Given the description of an element on the screen output the (x, y) to click on. 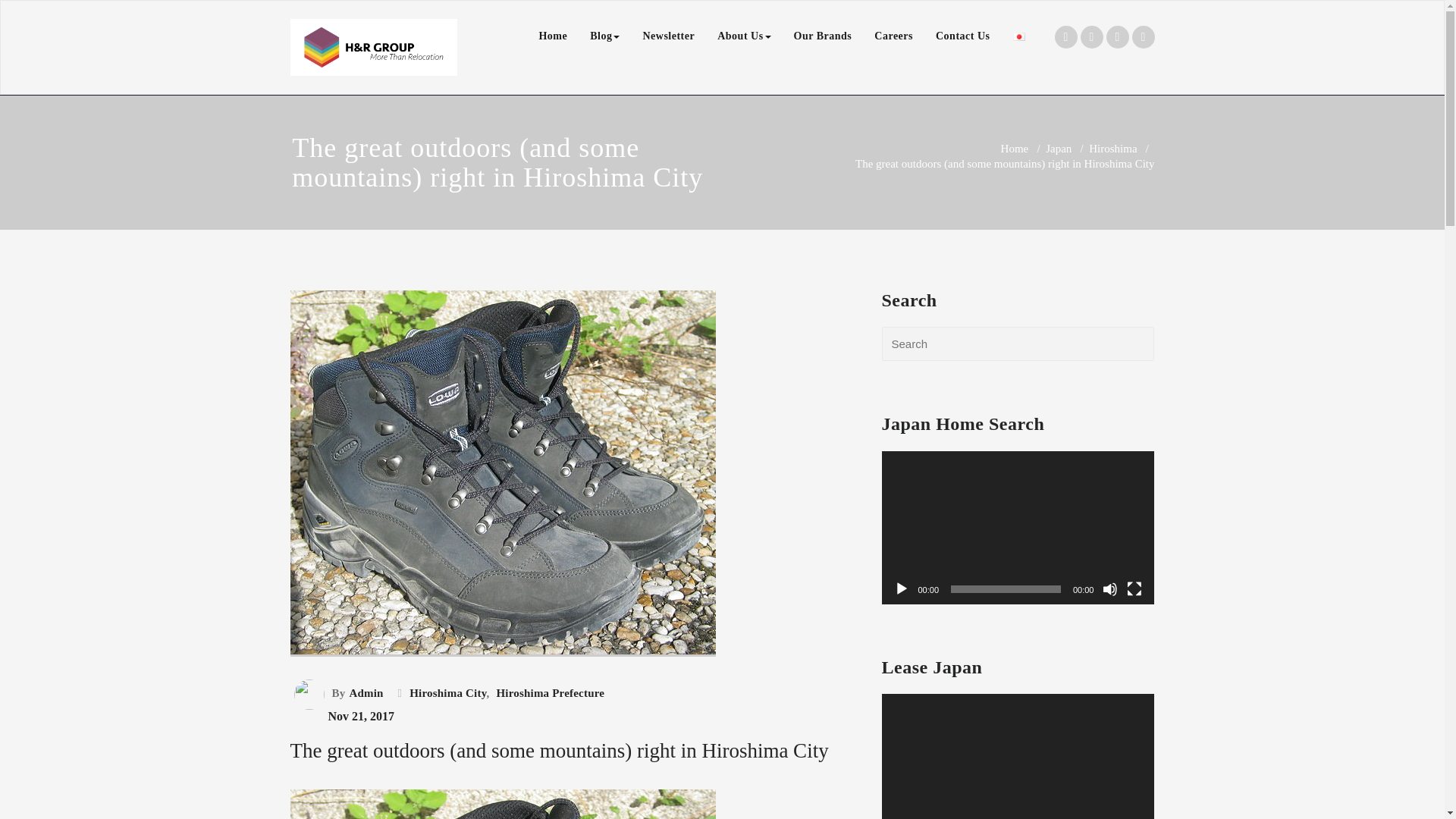
Blog (604, 36)
Hiroshima Prefecture (548, 692)
Admin (363, 692)
Home (552, 36)
Our Brands (823, 36)
Japan (1058, 148)
Hiroshima City (446, 692)
About Us (743, 36)
Fullscreen (1133, 589)
Contact Us (962, 36)
Home (1015, 148)
Hiroshima (1113, 148)
Newsletter (668, 36)
Careers (893, 36)
Mute (1110, 589)
